Given the description of an element on the screen output the (x, y) to click on. 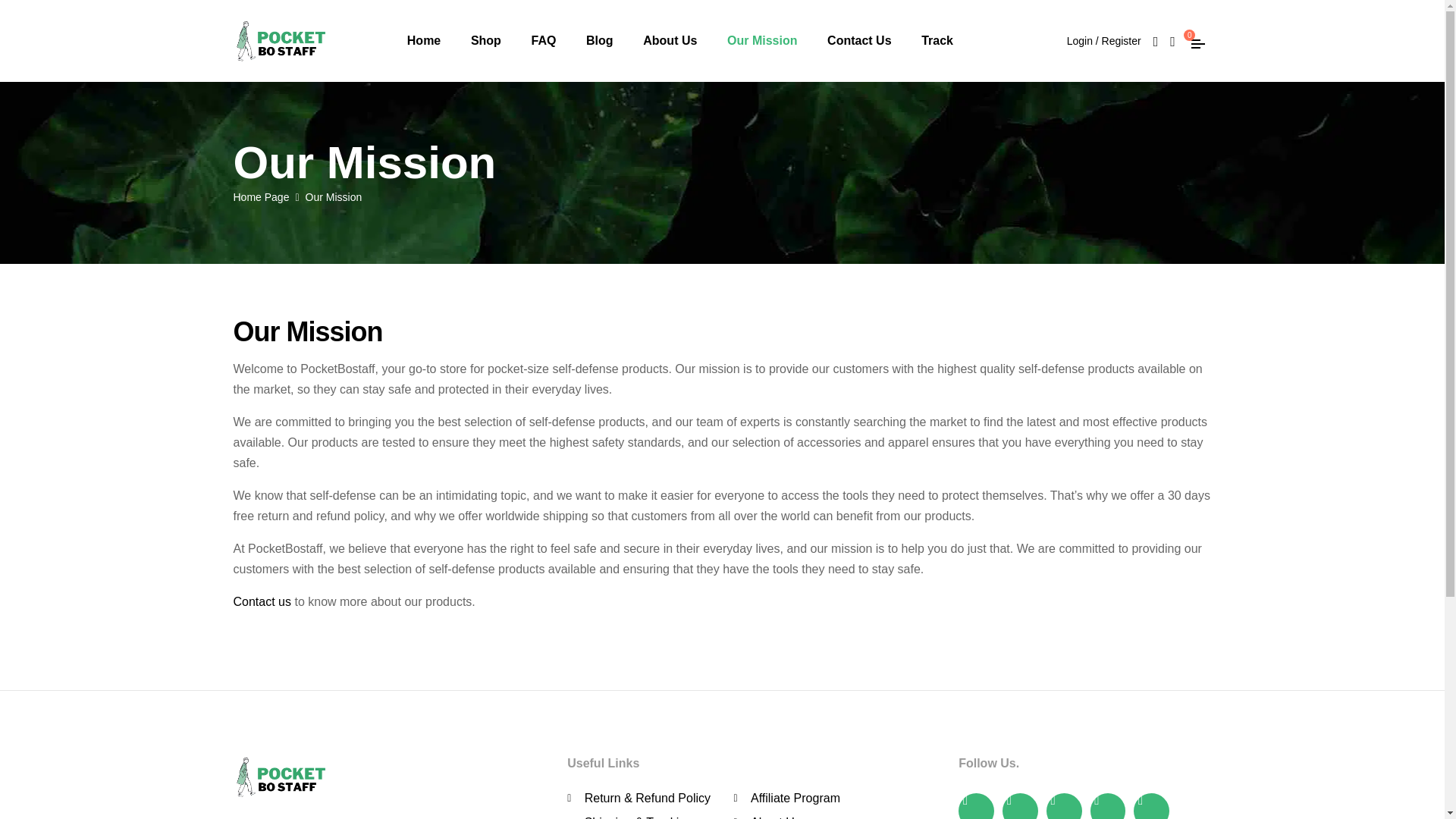
Contact us (263, 601)
Our Mission (761, 40)
Blog (599, 40)
Home Page (260, 196)
Home (423, 40)
Track (937, 40)
About Us (834, 816)
Shop (485, 40)
Affiliate Program (834, 798)
Contact Us (859, 40)
About Us (670, 40)
Search (895, 248)
